Given the description of an element on the screen output the (x, y) to click on. 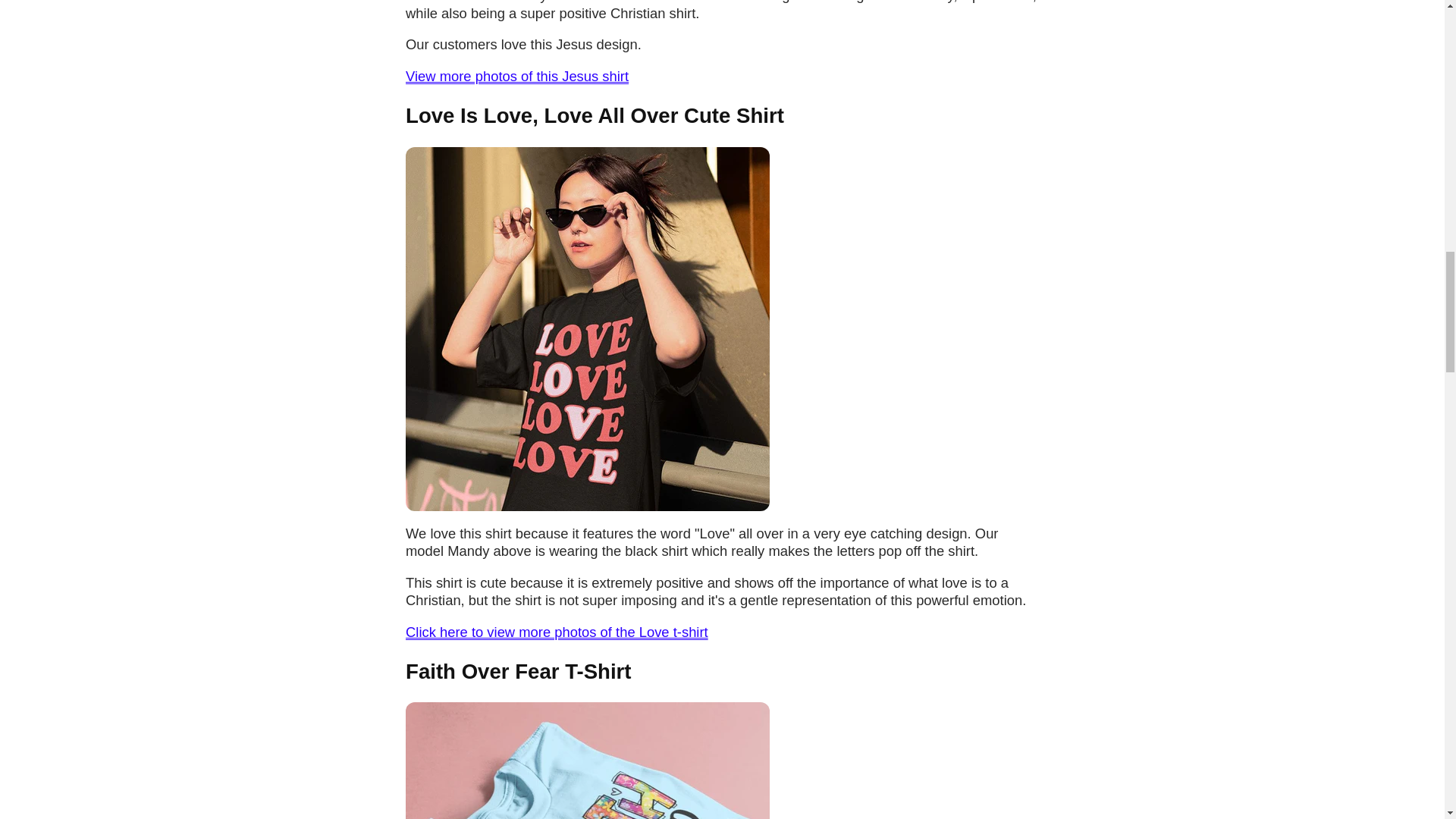
Click here to view more photos of the Love t-shirt (556, 631)
View more photos of this Jesus shirt (517, 75)
Cute Jesus Christian Shirt (517, 75)
